Given the description of an element on the screen output the (x, y) to click on. 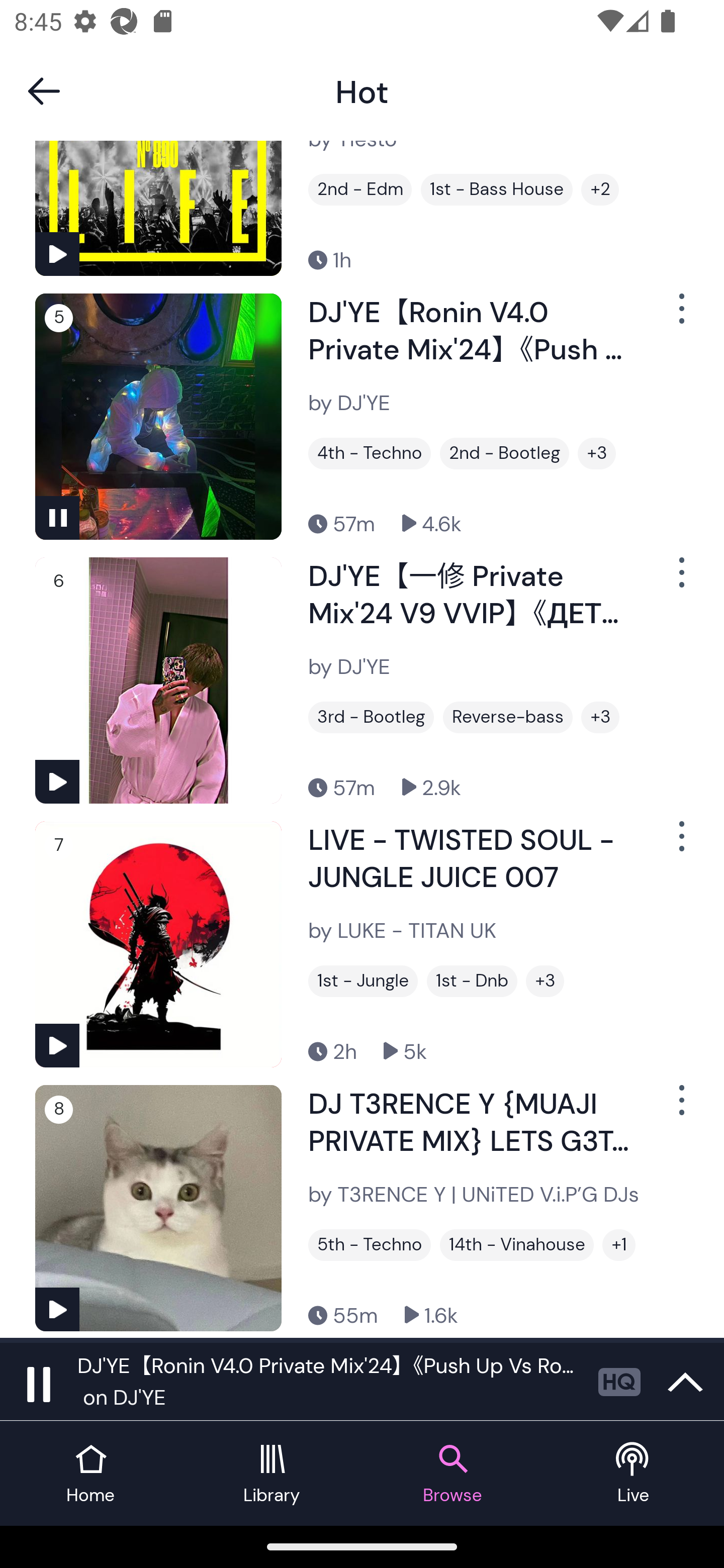
2nd - Edm (359, 189)
1st - Bass House (496, 189)
Show Options Menu Button (679, 315)
4th - Techno (369, 452)
2nd - Bootleg (504, 452)
Show Options Menu Button (679, 579)
3rd - Bootleg (370, 716)
Reverse-bass (507, 716)
Show Options Menu Button (679, 844)
1st - Jungle (362, 981)
1st - Dnb (472, 981)
Show Options Menu Button (679, 1107)
5th - Techno (369, 1244)
14th - Vinahouse (516, 1244)
Home tab Home (90, 1473)
Library tab Library (271, 1473)
Browse tab Browse (452, 1473)
Live tab Live (633, 1473)
